Given the description of an element on the screen output the (x, y) to click on. 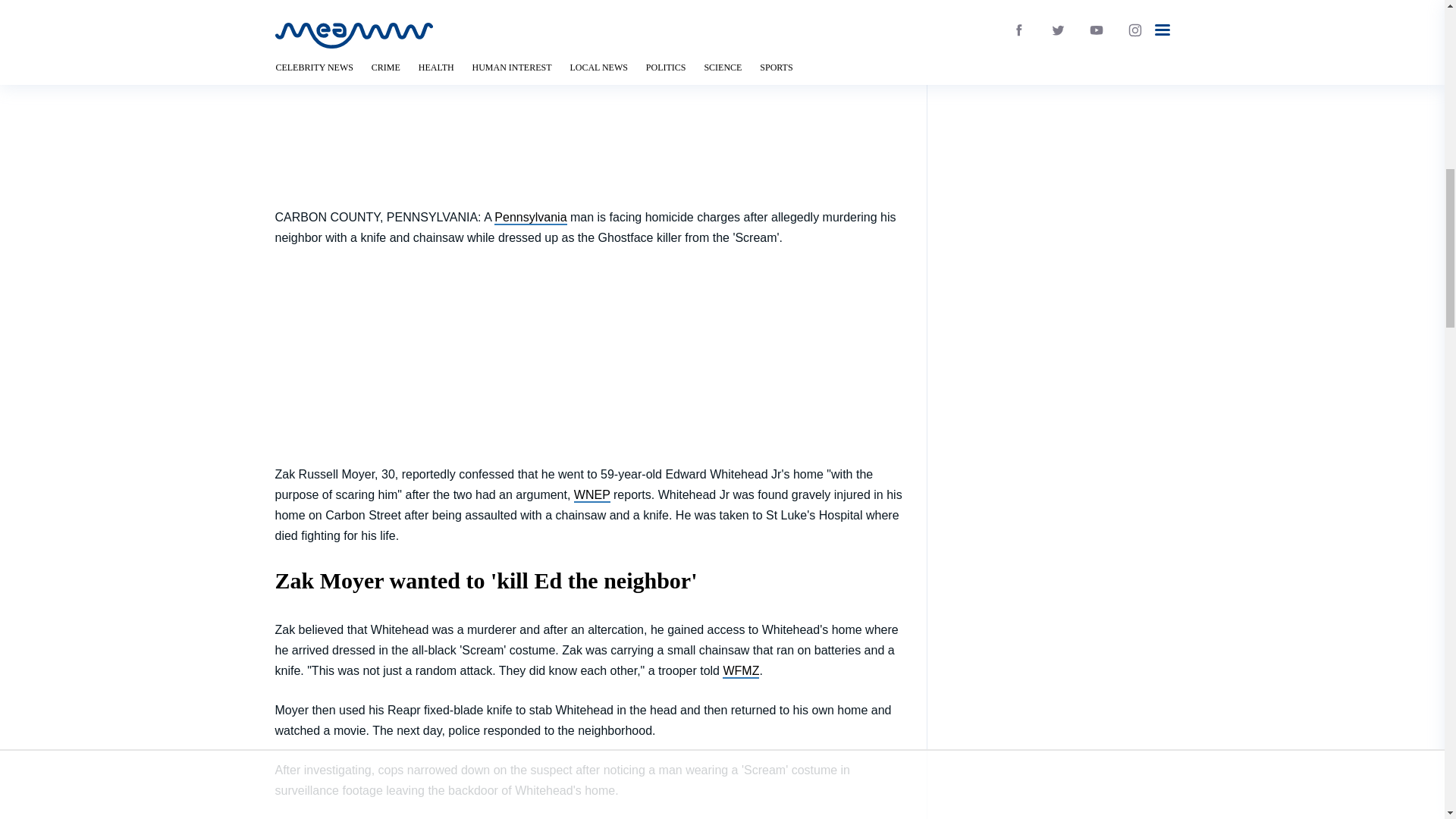
Copy Link (722, 169)
Twitter (722, 55)
Facebook (722, 94)
WhatsApp (722, 131)
